Given the description of an element on the screen output the (x, y) to click on. 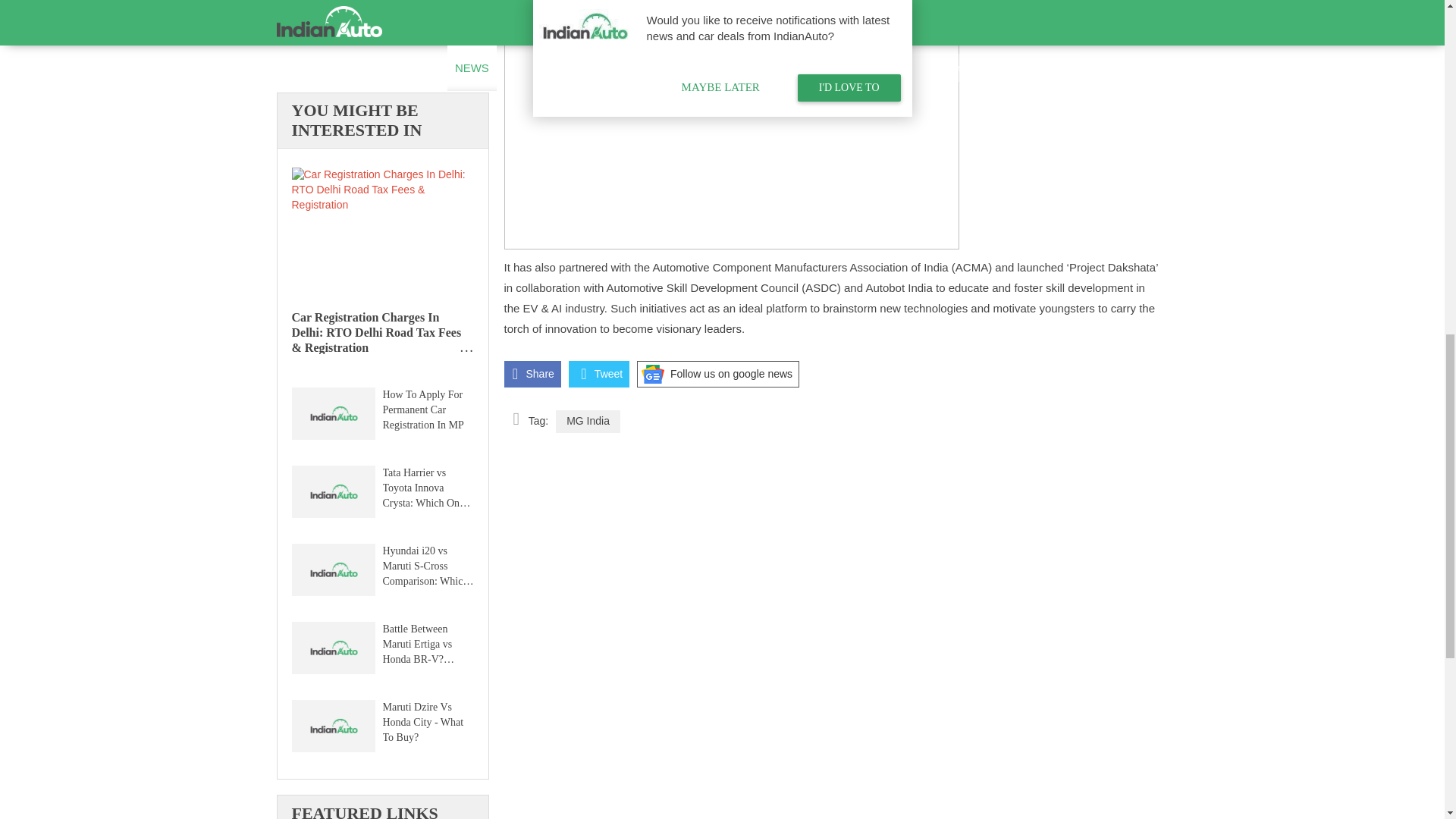
Battle Between Maruti Ertiga vs Honda BR-V? Which Wins? (332, 649)
Maruti Dzire Vs Honda City - What To Buy? (332, 728)
Battle Between Maruti Ertiga vs Honda BR-V? Which Wins? (424, 643)
How To Apply For Permanent Car Registration In MP (332, 415)
How To Apply For Permanent Car Registration In MP (424, 409)
Maruti Dzire Vs Honda City - What To Buy? (424, 721)
Advertisement (381, 42)
